Given the description of an element on the screen output the (x, y) to click on. 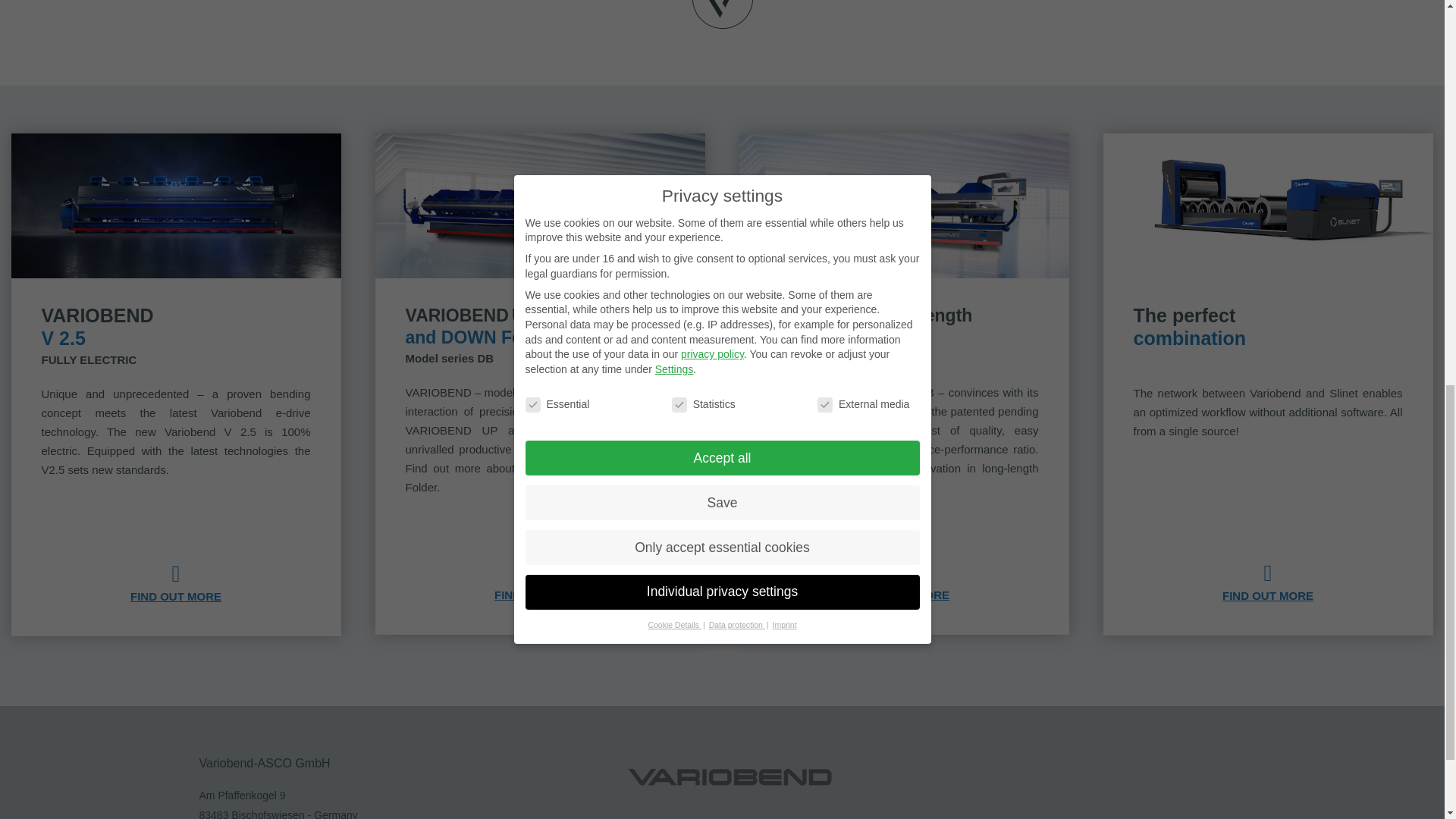
Variobend V 2.5 (175, 205)
Variobend V2.5 (175, 574)
Variobend V2.5 (176, 595)
